Given the description of an element on the screen output the (x, y) to click on. 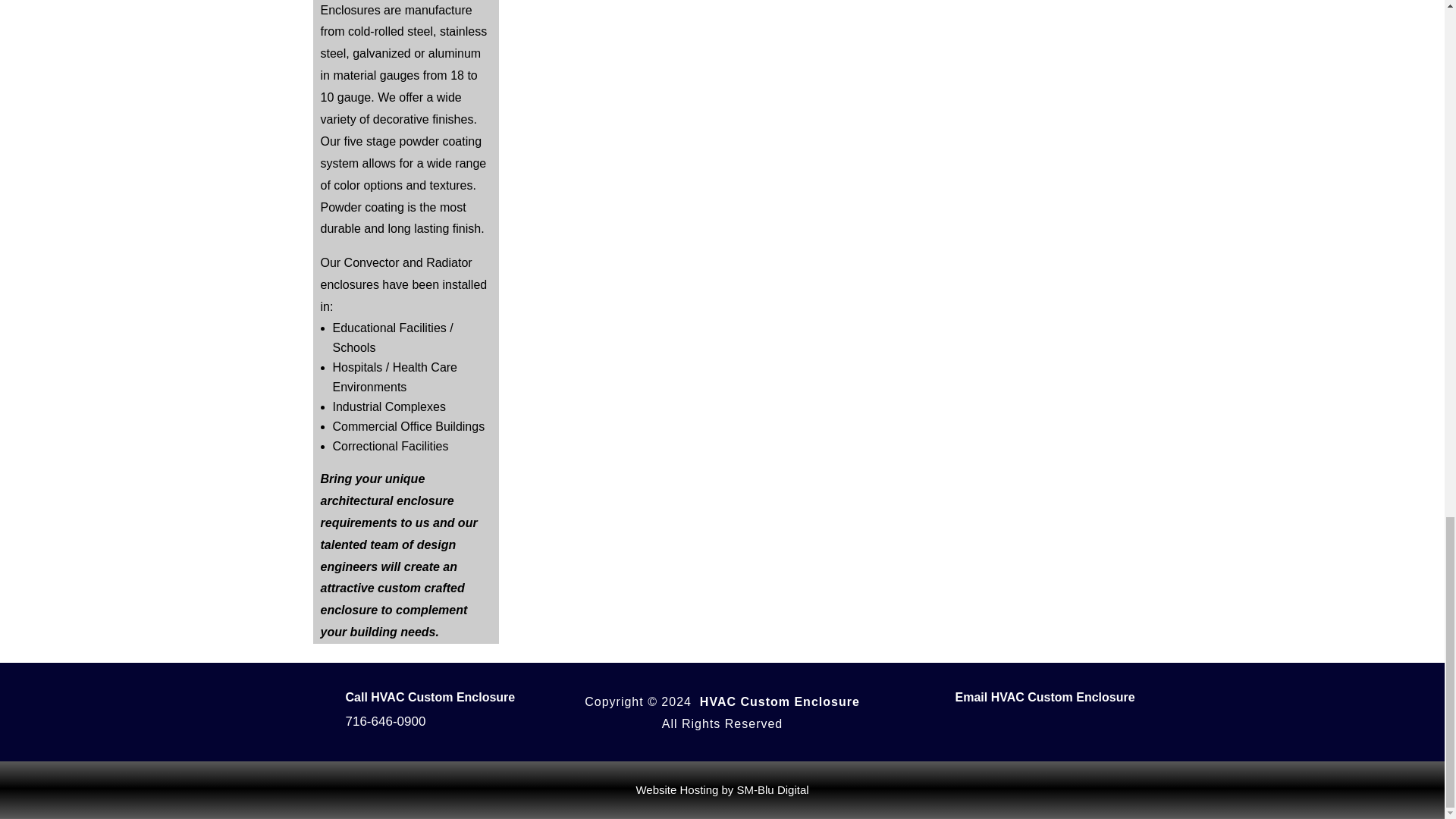
Website Hosting by SM-Blu Digital (721, 789)
716-646-0900 (386, 721)
Email HVAC Custom Enclosure (1045, 697)
